Given the description of an element on the screen output the (x, y) to click on. 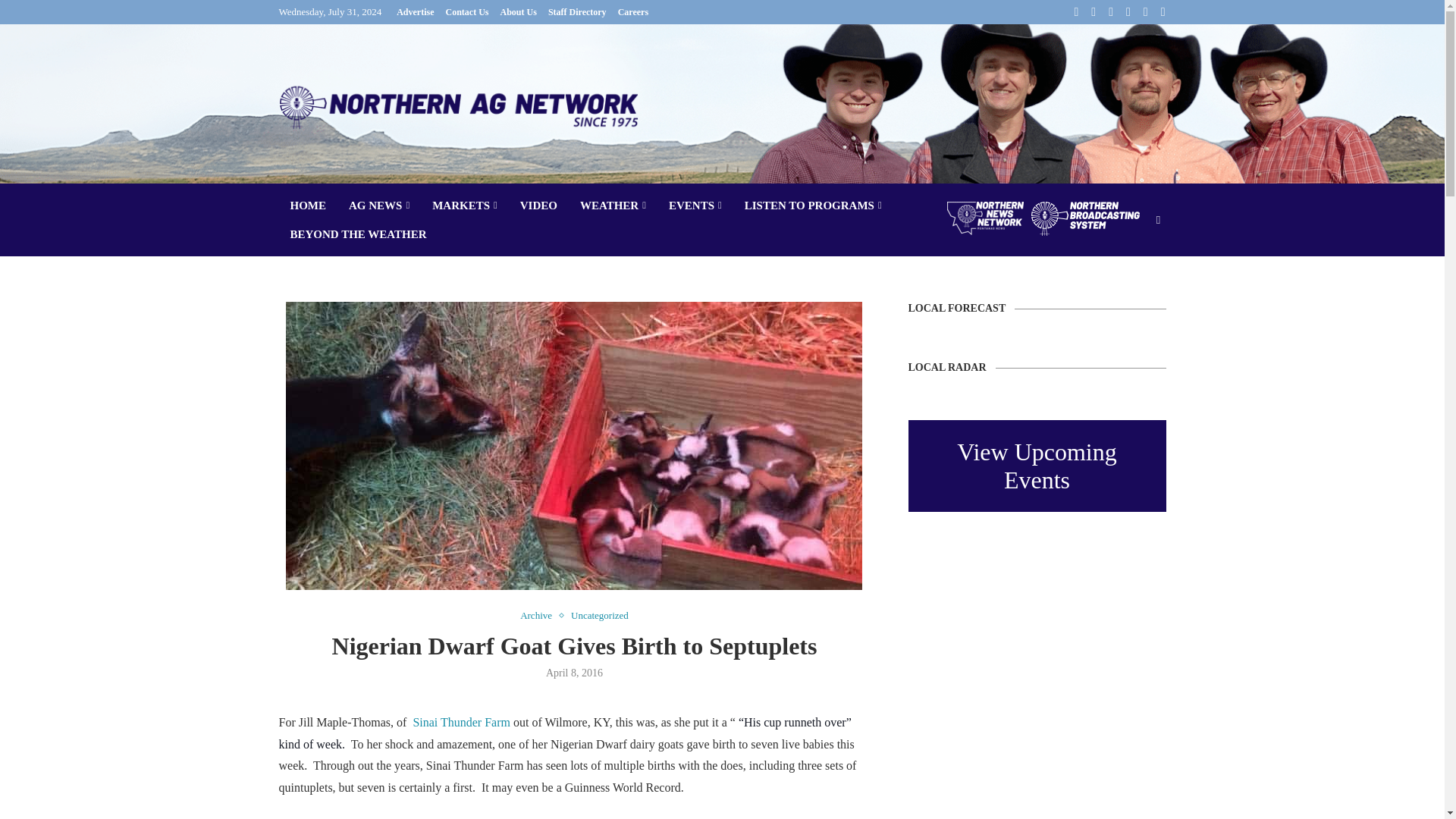
Careers (632, 12)
Staff Directory (577, 12)
Contact Us (467, 12)
About Us (518, 12)
Advertise (414, 12)
